Given the description of an element on the screen output the (x, y) to click on. 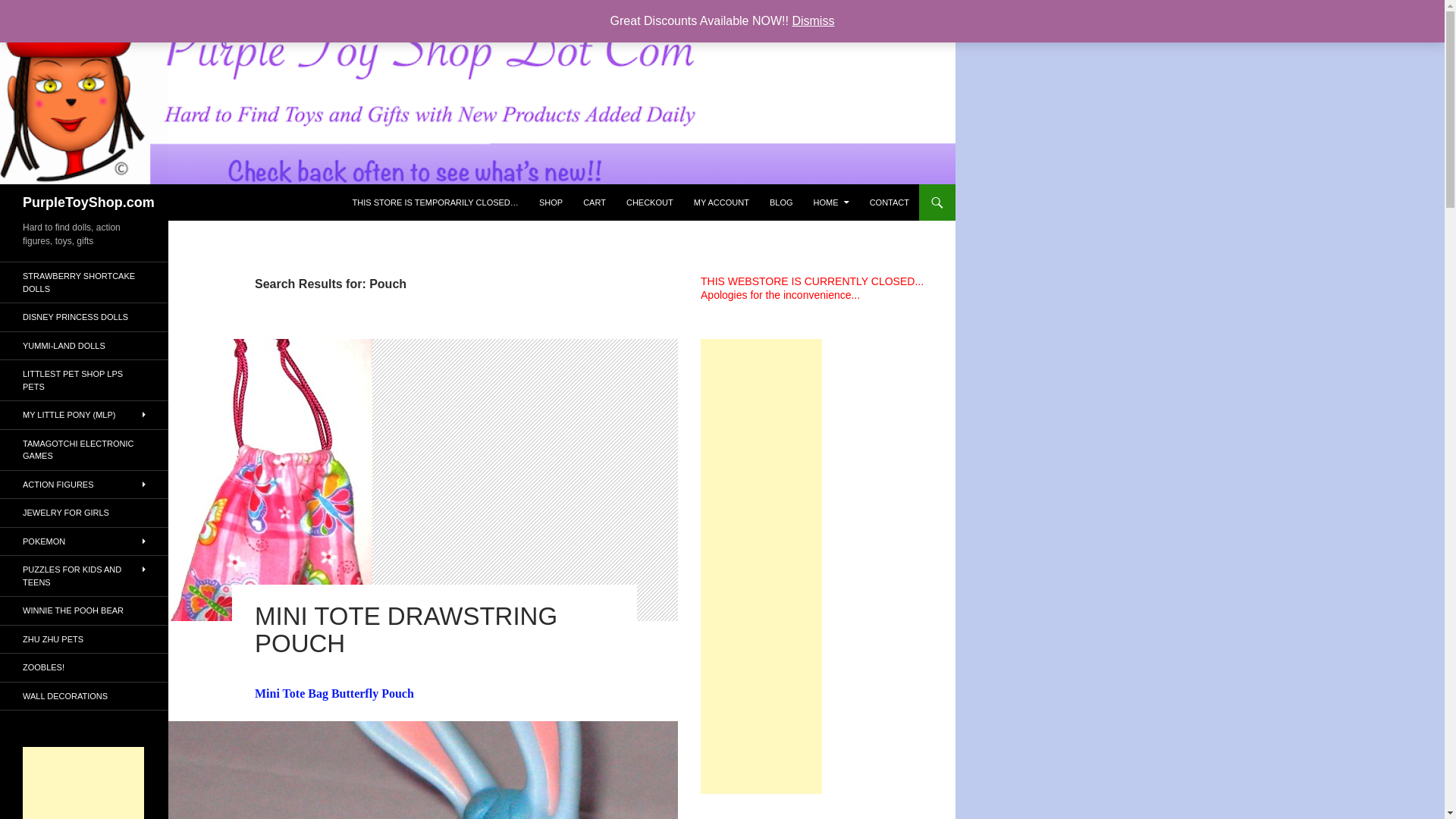
Advertisement (83, 782)
SHOP (550, 202)
HOME (832, 202)
CHECKOUT (649, 202)
CART (593, 202)
BLOG (781, 202)
PurpleToyShop.com (88, 202)
MY ACCOUNT (721, 202)
